Given the description of an element on the screen output the (x, y) to click on. 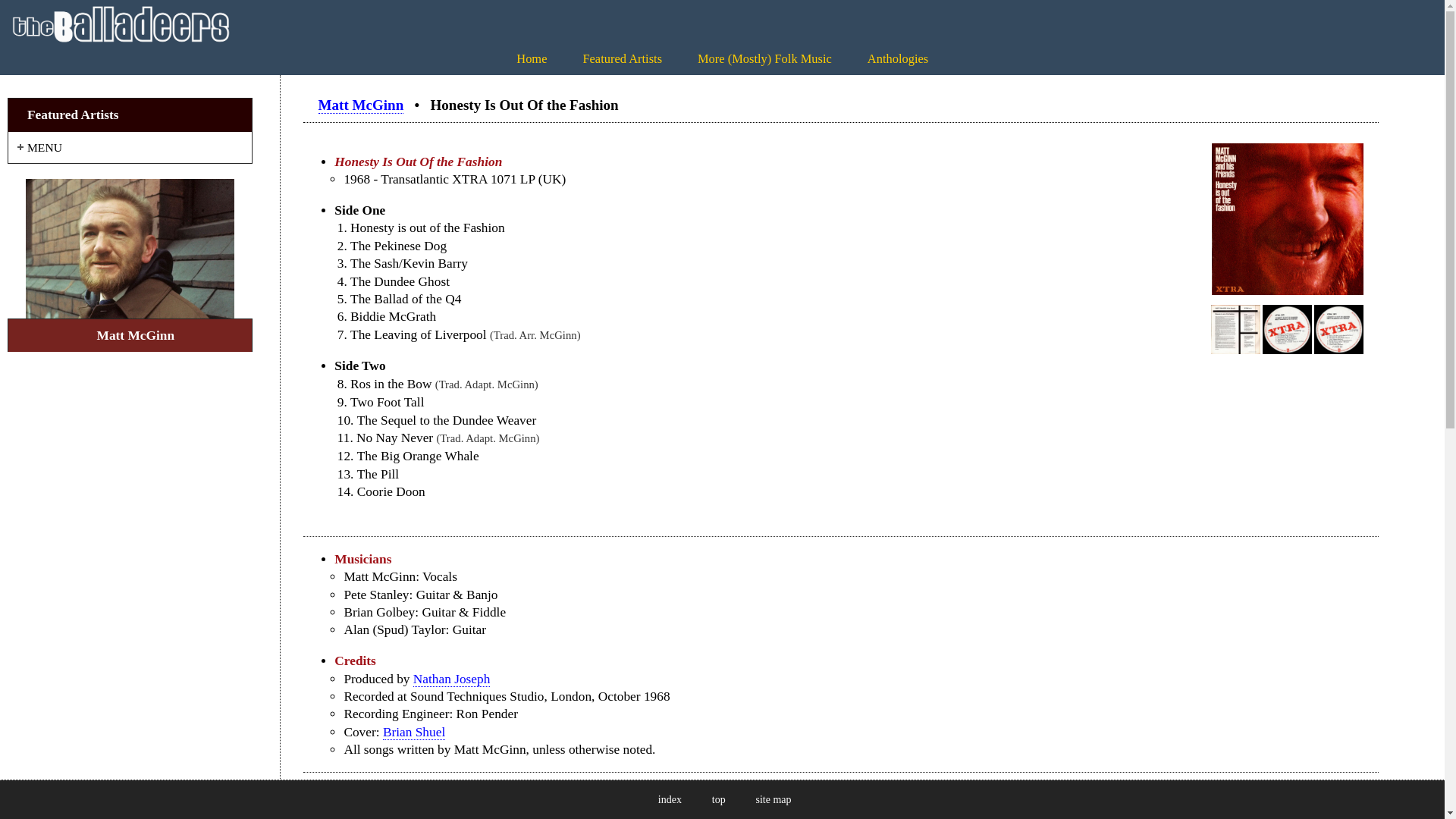
Anthologies (897, 58)
Home (531, 58)
theBalladers (121, 24)
Featured Artists (622, 58)
Matt McGinn (129, 248)
